Given the description of an element on the screen output the (x, y) to click on. 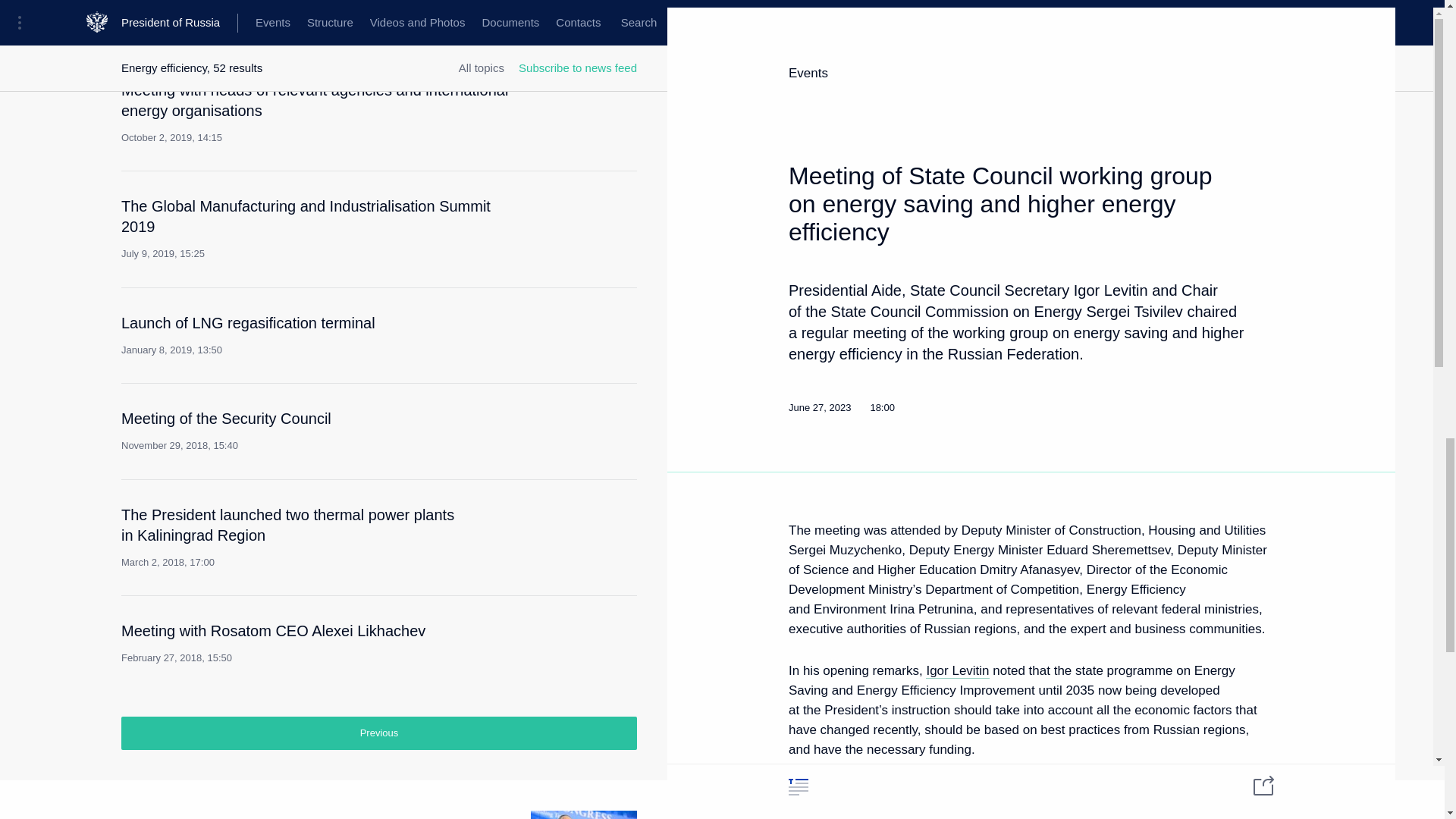
Previous (321, 334)
